Given the description of an element on the screen output the (x, y) to click on. 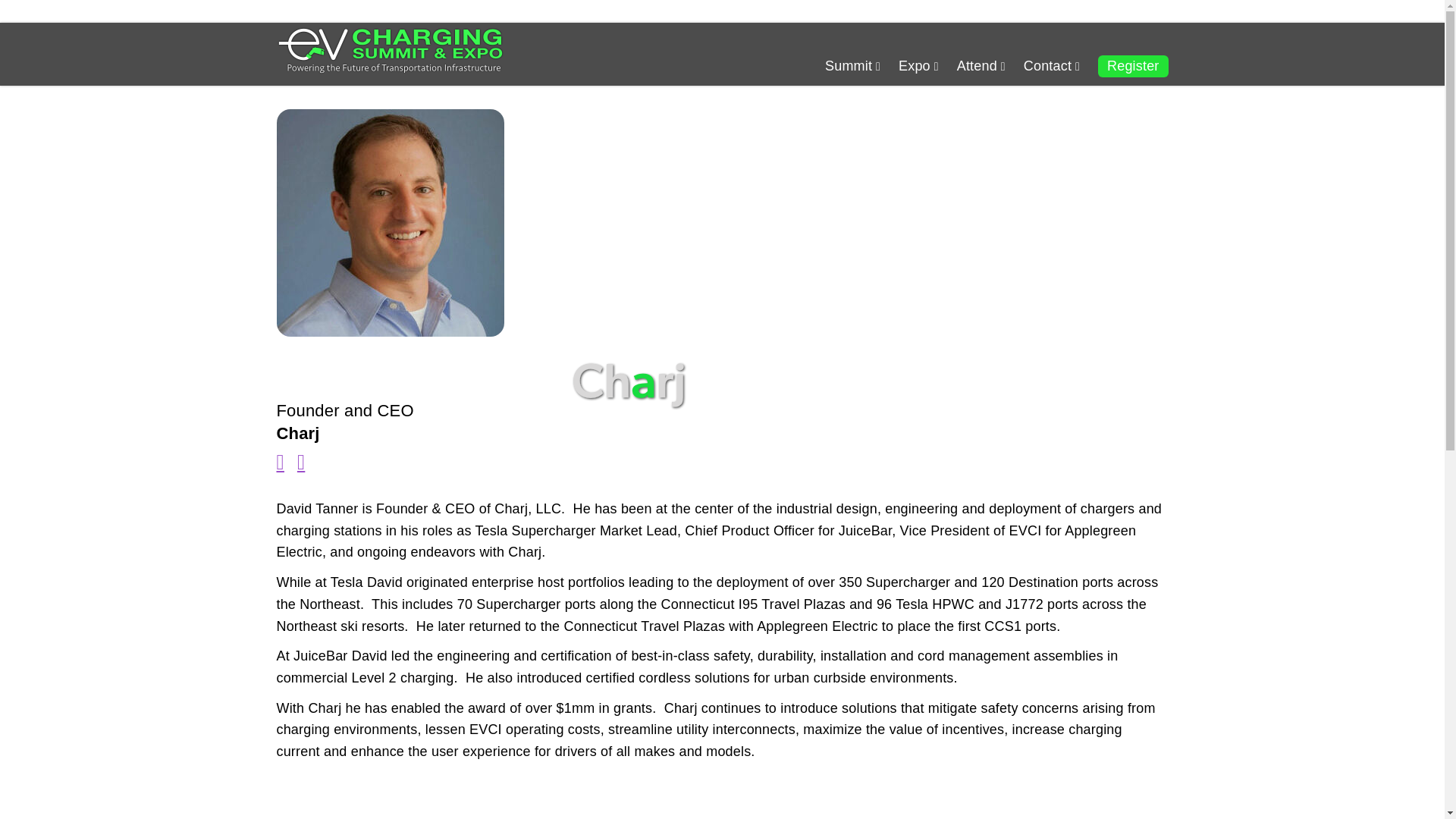
Contact (1051, 65)
Expo (918, 65)
Summit (852, 65)
Register (1132, 65)
Attend (981, 65)
